Given the description of an element on the screen output the (x, y) to click on. 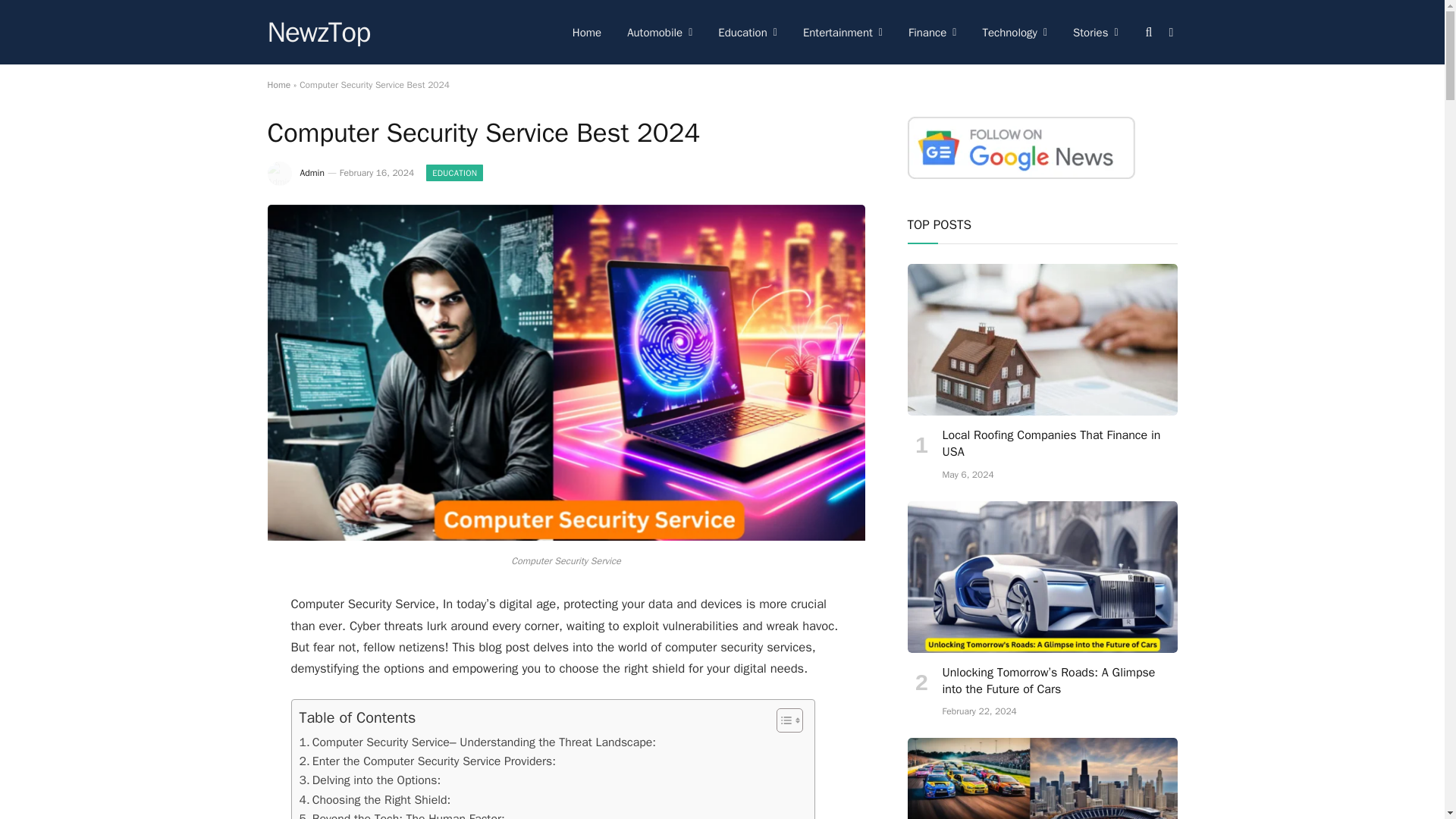
Automobile (659, 32)
Entertainment (842, 32)
Education (747, 32)
NewzTop (317, 32)
Newz Top (317, 32)
